Given the description of an element on the screen output the (x, y) to click on. 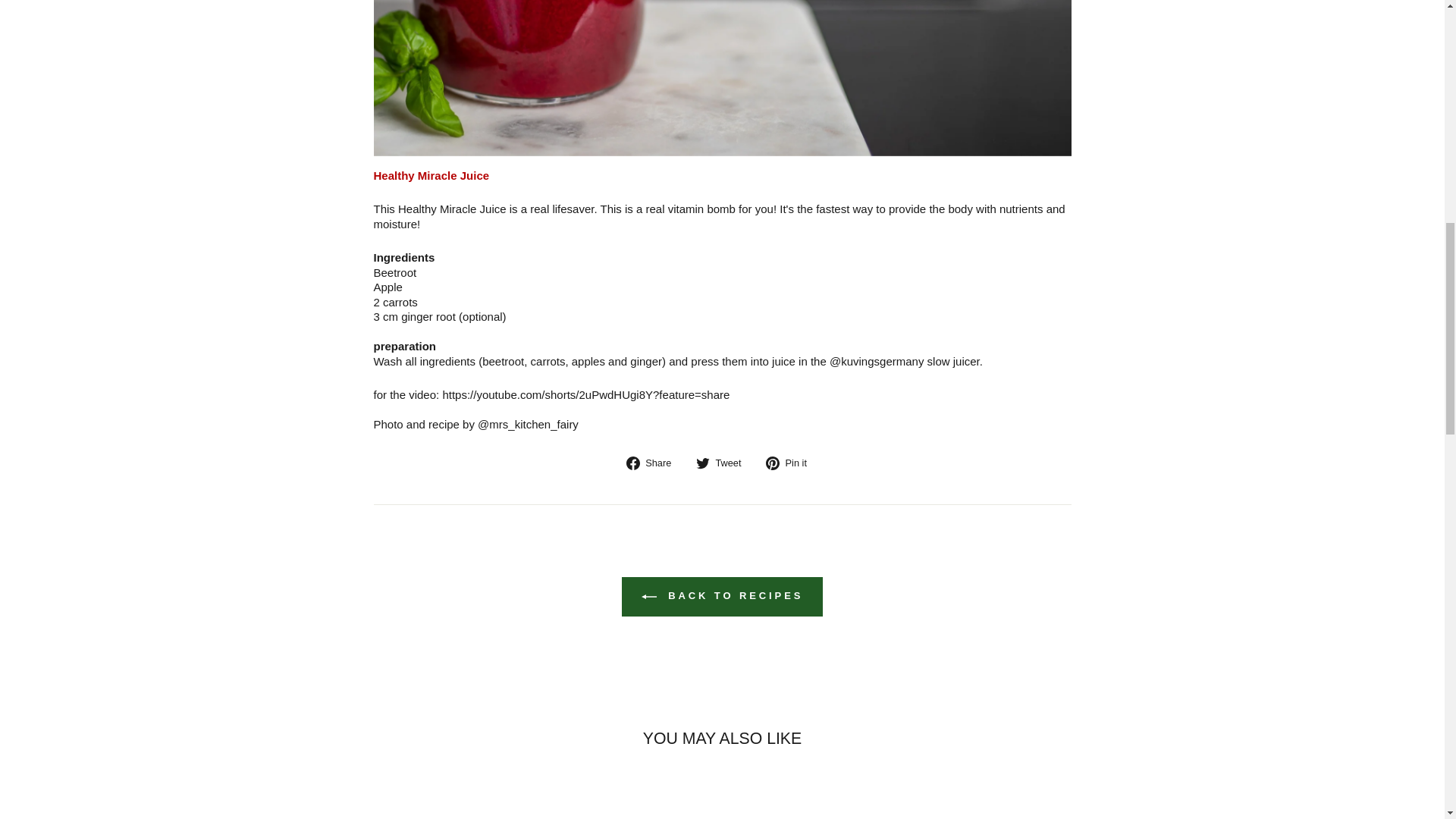
Tweet on Twitter (723, 462)
Pin on Pinterest (791, 462)
twitter (702, 463)
Share on Facebook (654, 462)
